Given the description of an element on the screen output the (x, y) to click on. 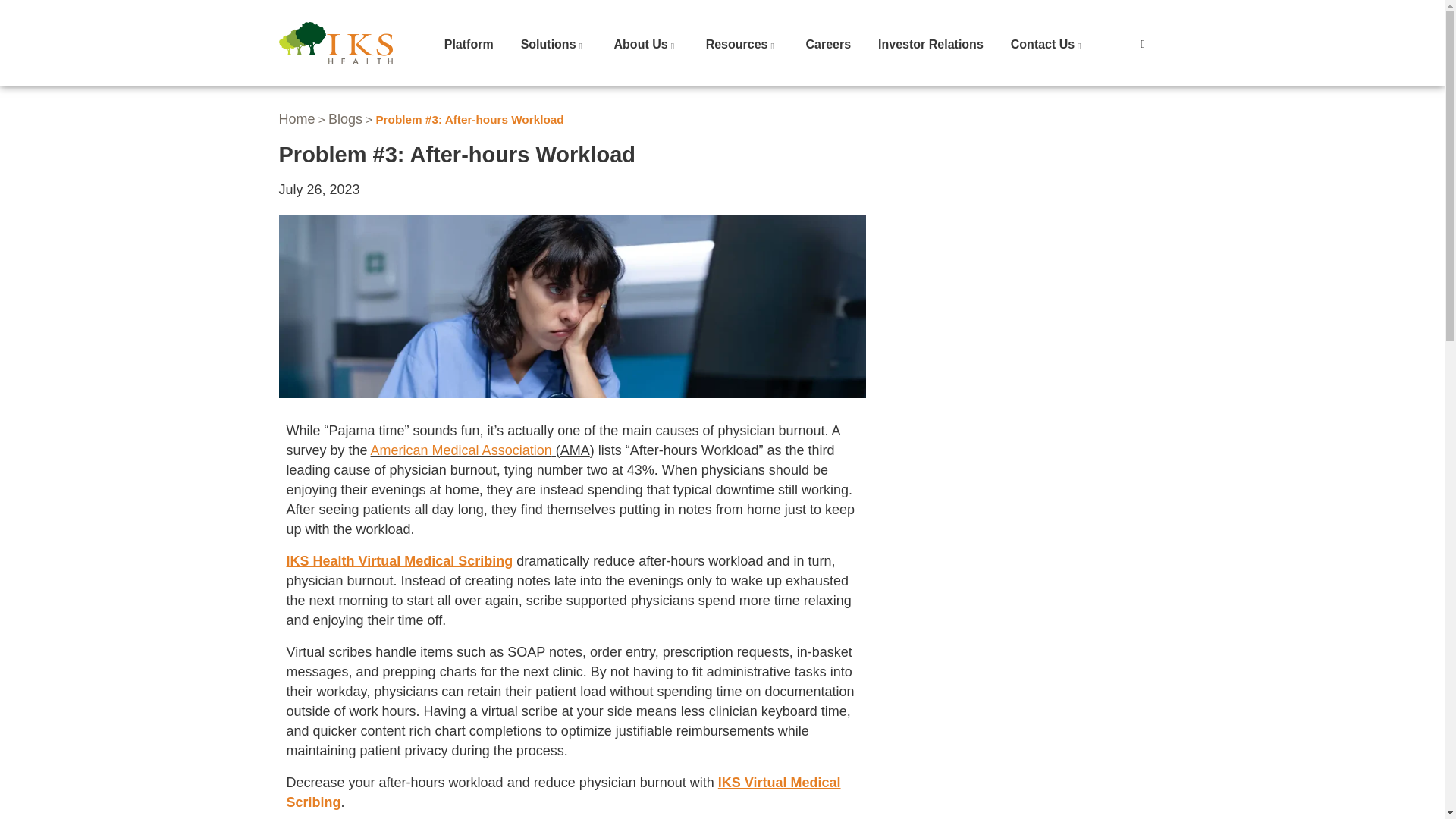
Platform (468, 44)
Home (336, 43)
Solutions (553, 44)
About Us (646, 44)
Resources (742, 44)
